Given the description of an element on the screen output the (x, y) to click on. 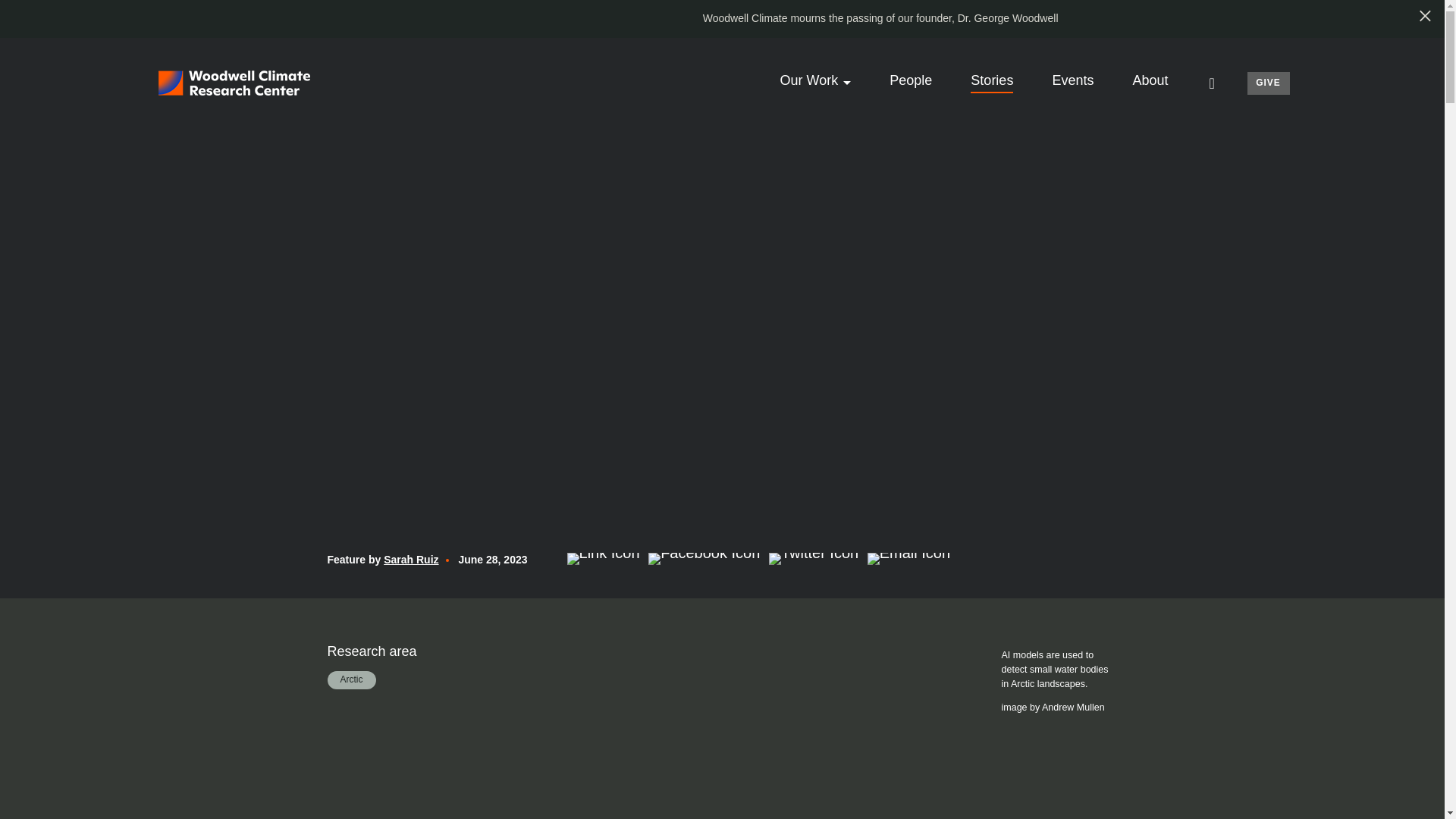
Our Work (809, 80)
GIVE (1267, 83)
People (910, 80)
Sarah Ruiz (411, 559)
Arctic (351, 679)
Stories (992, 80)
Events (1072, 80)
About (1149, 80)
